Given the description of an element on the screen output the (x, y) to click on. 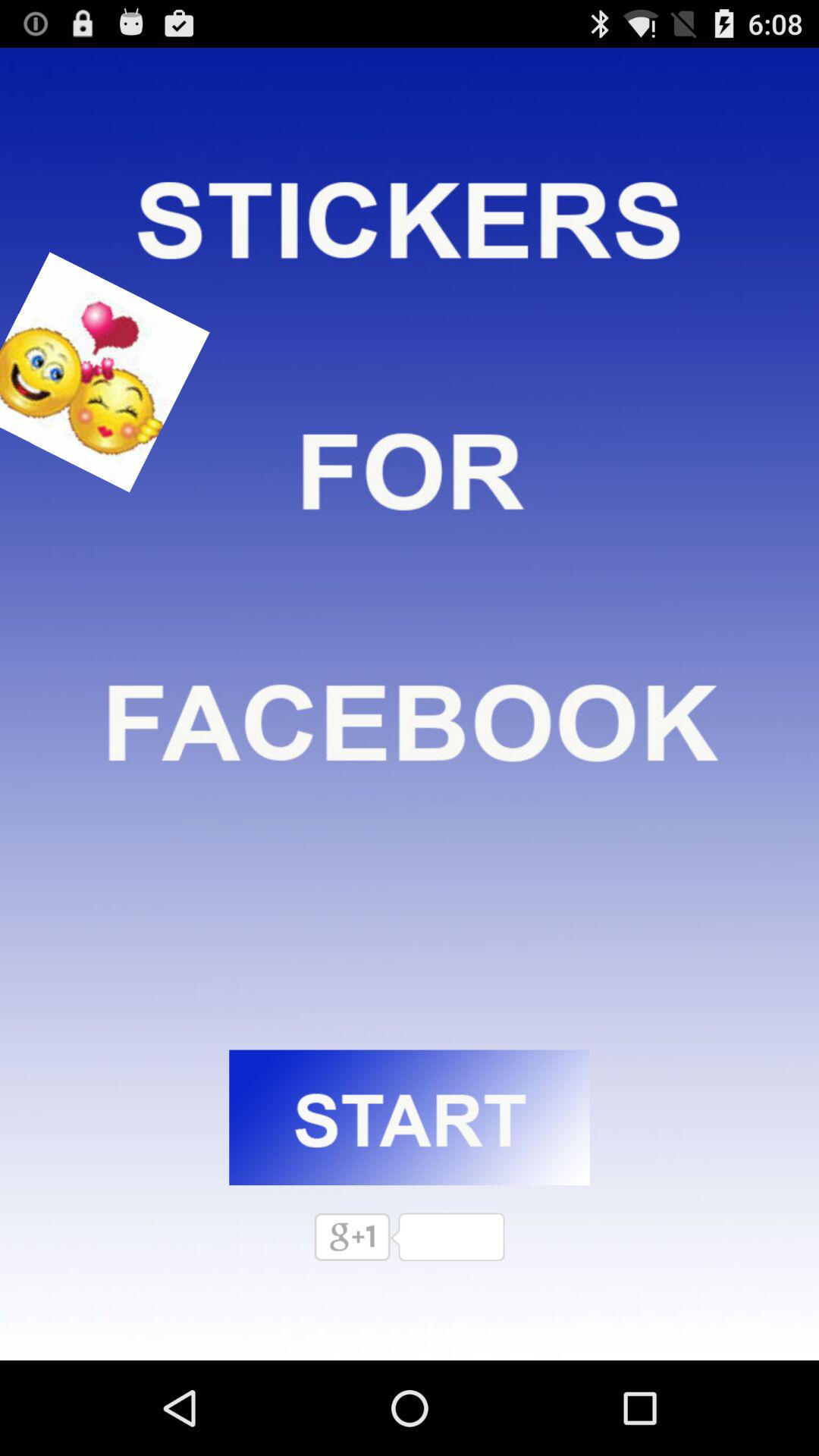
start button (409, 1117)
